Given the description of an element on the screen output the (x, y) to click on. 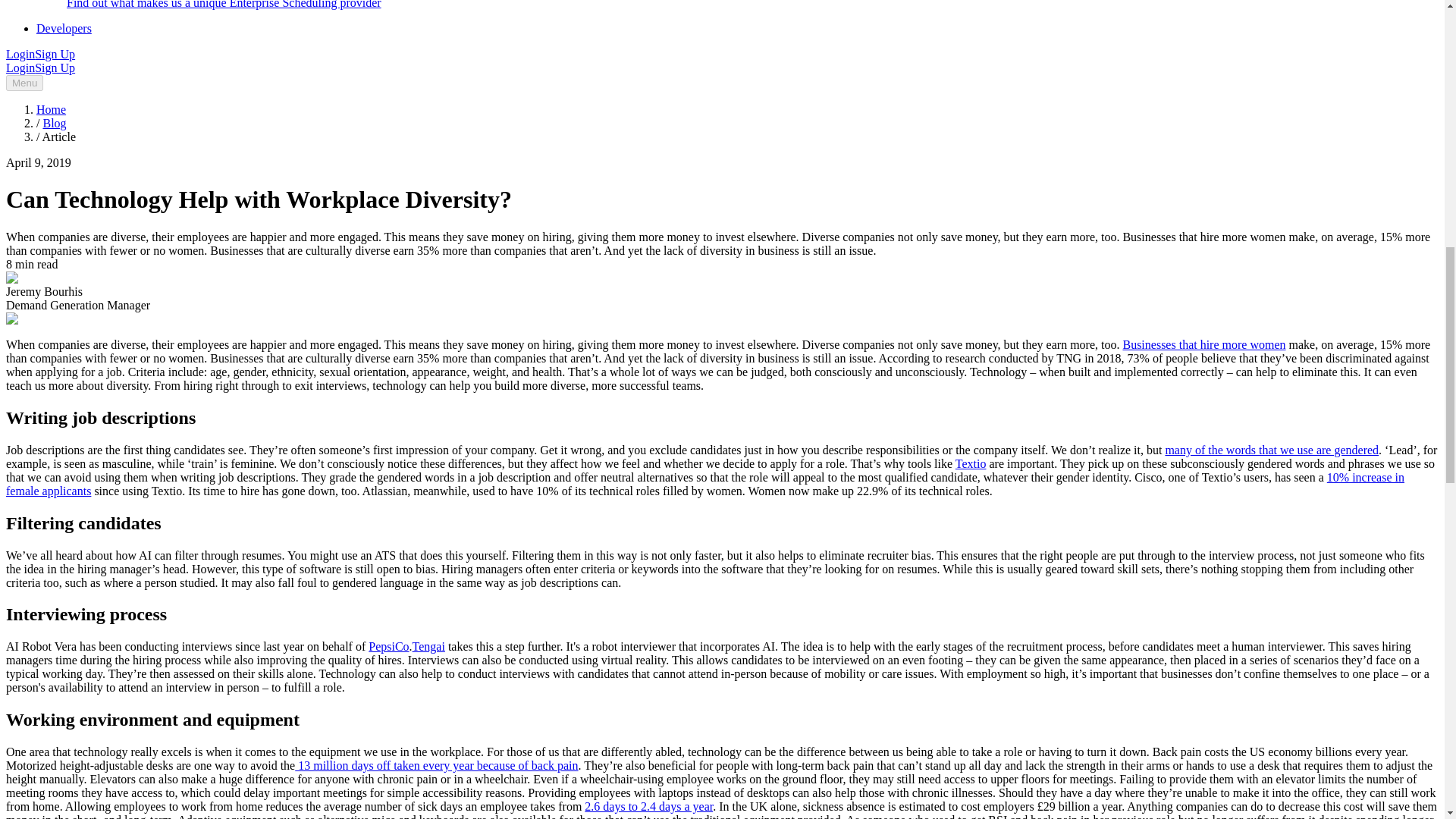
13 million days off taken every year because of back pain (436, 765)
Login (19, 53)
Menu (24, 82)
Blog (53, 123)
Textio (971, 463)
Login (19, 67)
Businesses that hire more women (1203, 344)
Sign Up (54, 53)
many of the words that we use are gendered (1271, 449)
Home (50, 109)
Article (58, 136)
Tengai (428, 645)
2.6 days to 2.4 days a year (649, 806)
Sign Up (54, 67)
PepsiCo (388, 645)
